Given the description of an element on the screen output the (x, y) to click on. 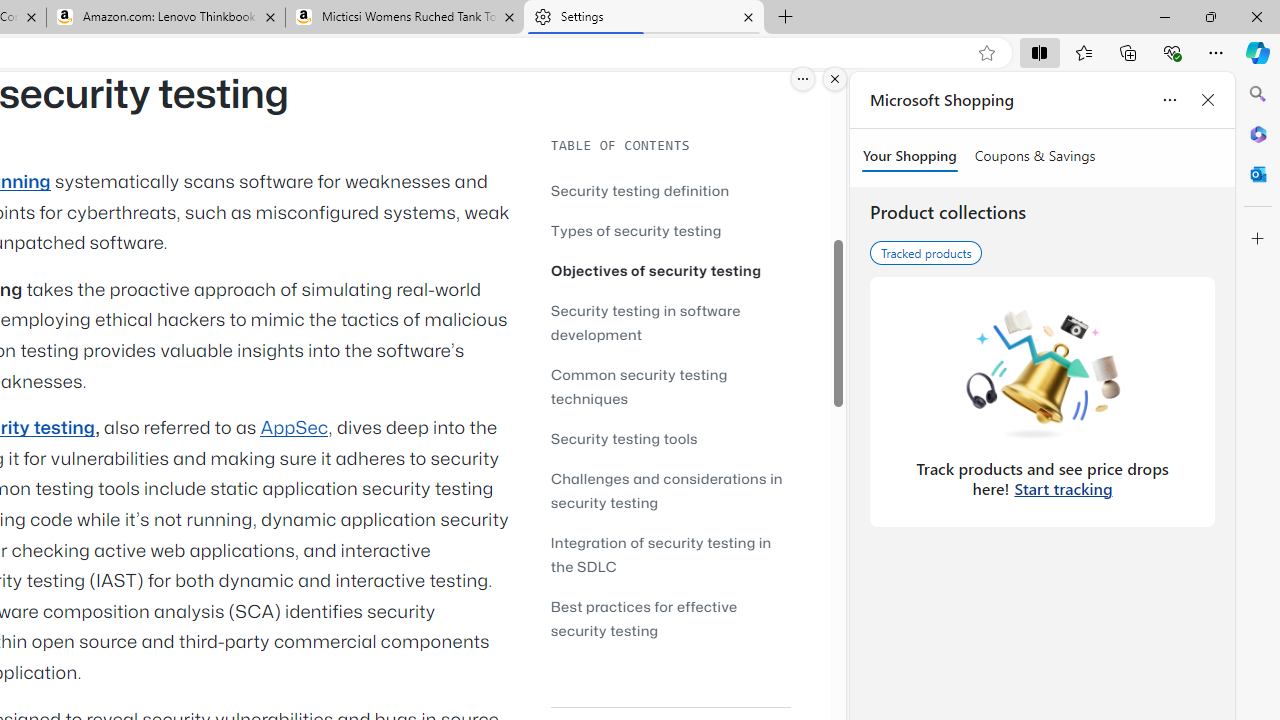
Types of security testing (635, 230)
Customize (1258, 239)
Close split screen. (835, 79)
Challenges and considerations in security testing (670, 489)
Integration of security testing in the SDLC (670, 553)
Types of security testing (670, 230)
Challenges and considerations in security testing (666, 490)
